Given the description of an element on the screen output the (x, y) to click on. 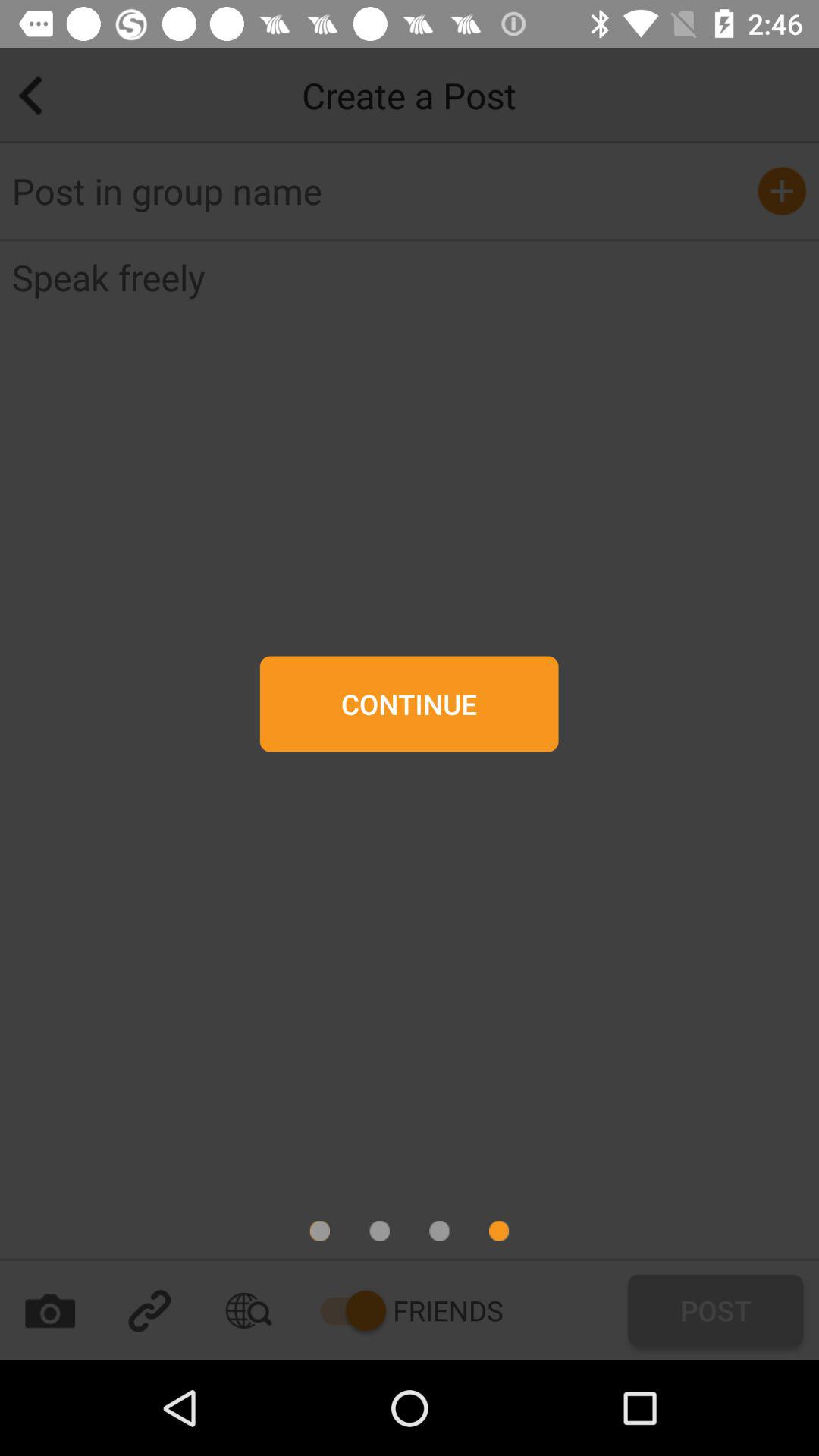
choose continue button (408, 703)
